Given the description of an element on the screen output the (x, y) to click on. 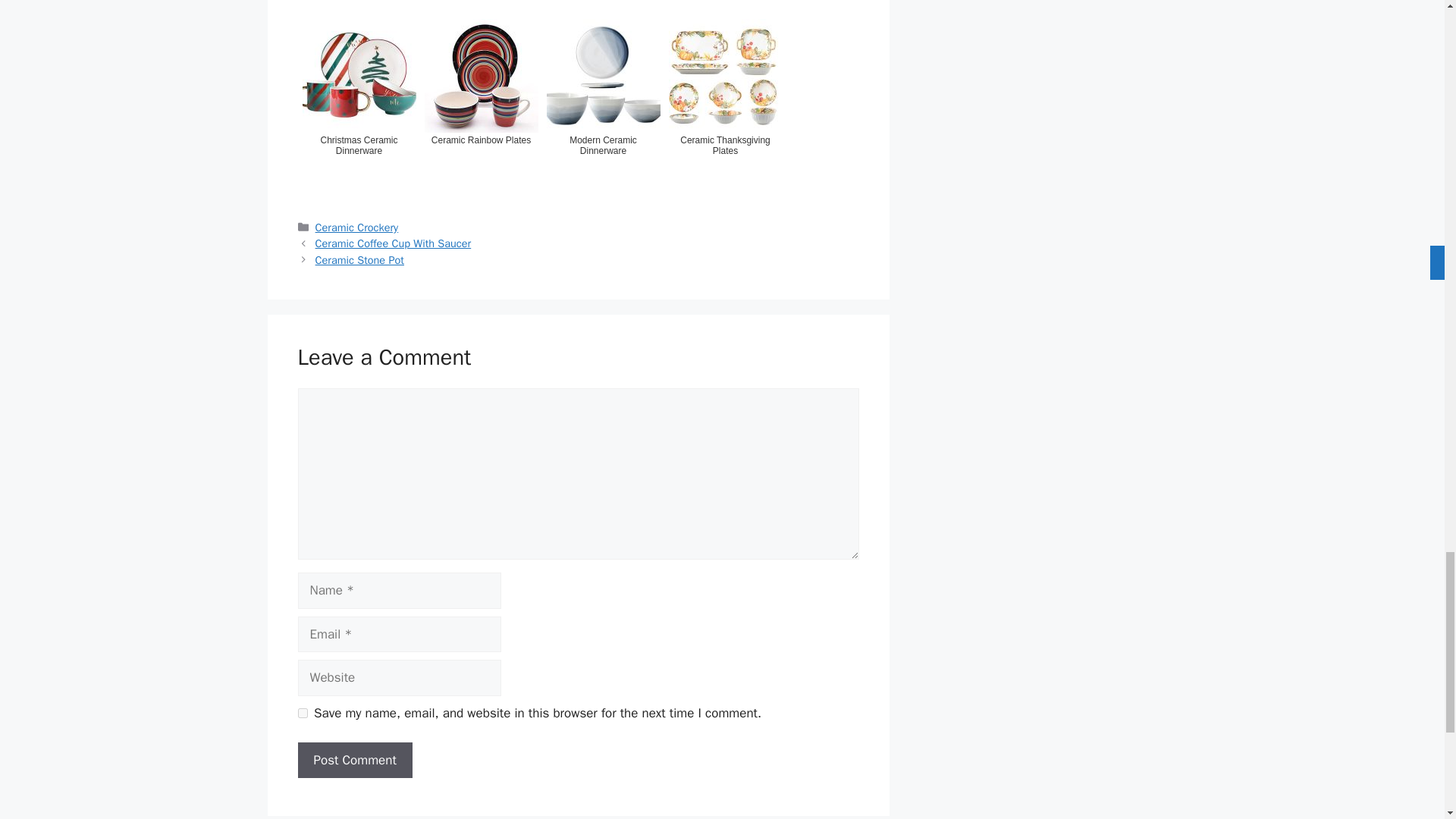
Post Comment (354, 760)
yes (302, 713)
